Given the description of an element on the screen output the (x, y) to click on. 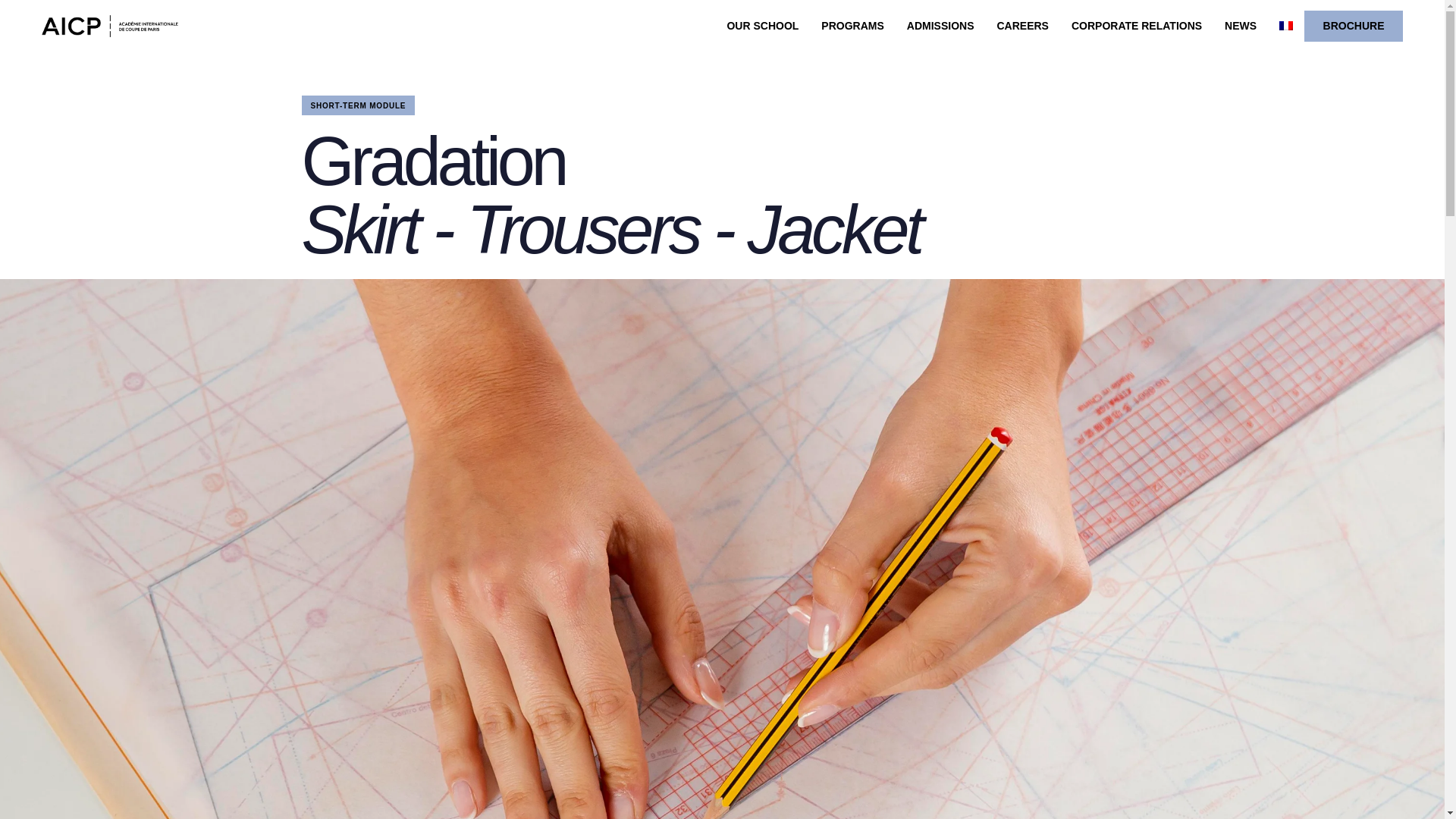
PROGRAMS (852, 26)
CAREERS (1022, 26)
CORPORATE RELATIONS (1135, 26)
ADMISSIONS (940, 26)
OUR SCHOOL (761, 26)
